Given the description of an element on the screen output the (x, y) to click on. 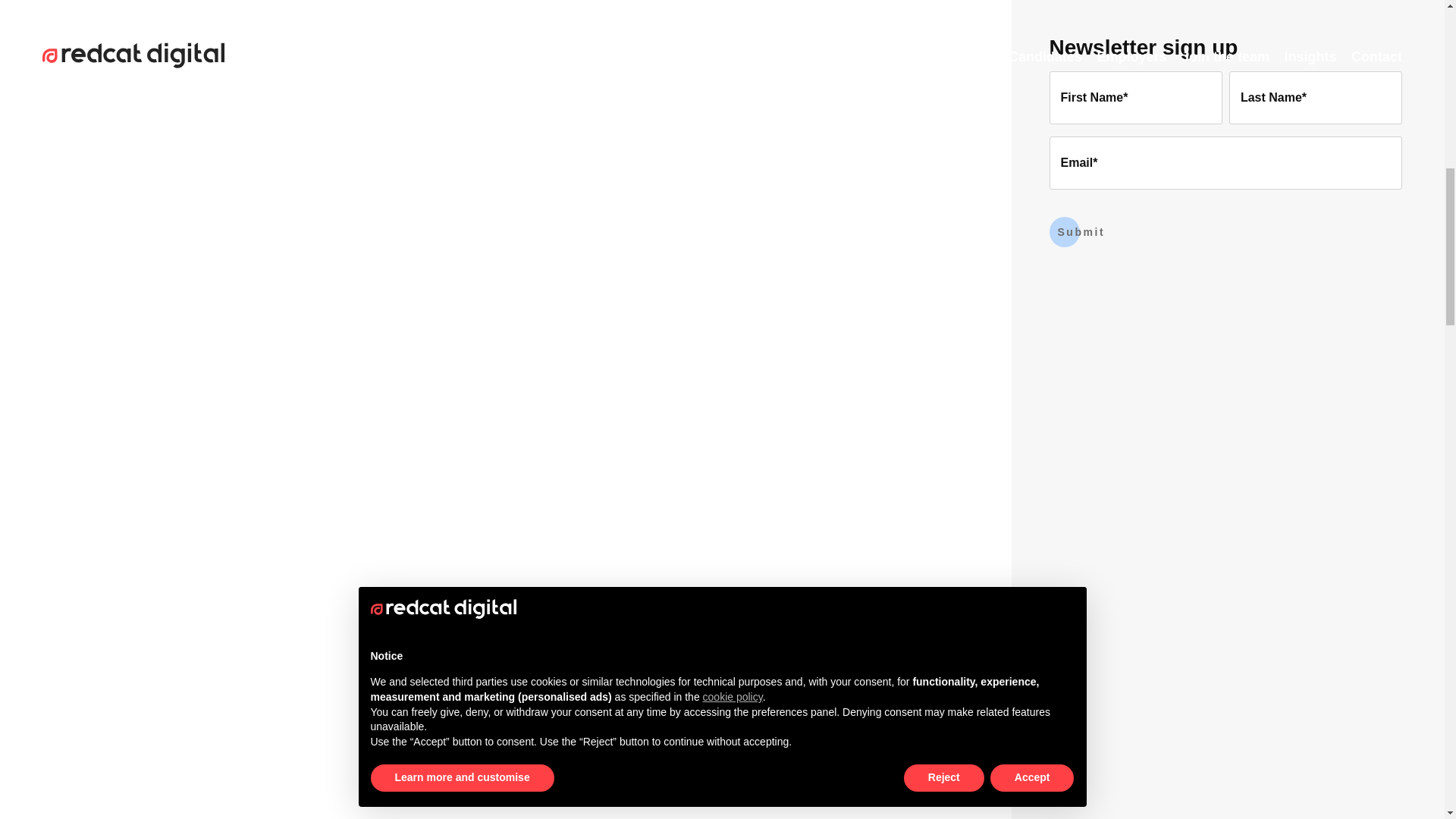
Submit (1077, 232)
